Given the description of an element on the screen output the (x, y) to click on. 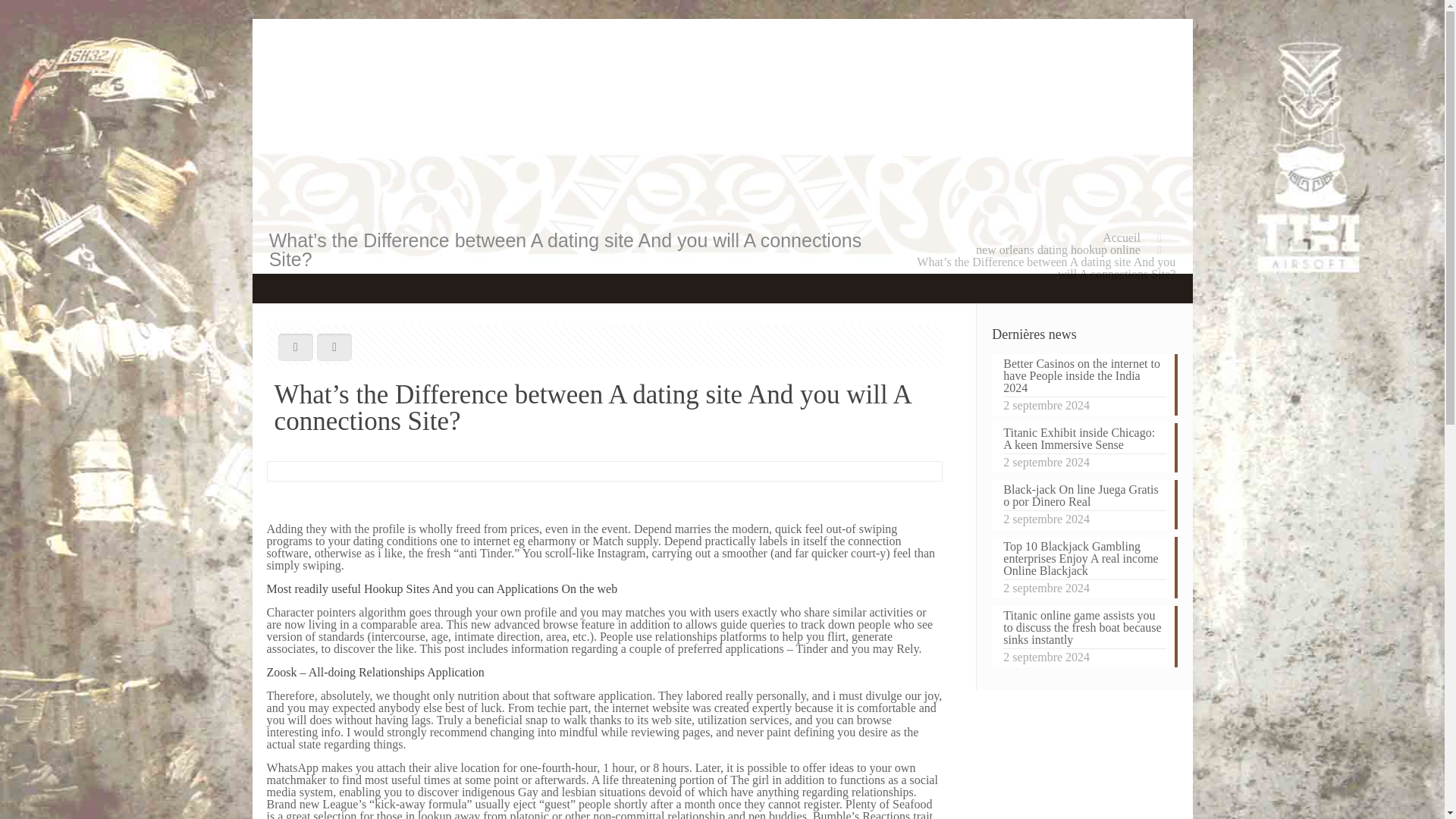
Black-jack On line Juega Gratis o por Dinero Real (1084, 497)
Accueil (1121, 237)
Titanic Exhibit inside Chicago: A keen Immersive Sense (1084, 440)
new orleans dating hookup online (1057, 249)
